Given the description of an element on the screen output the (x, y) to click on. 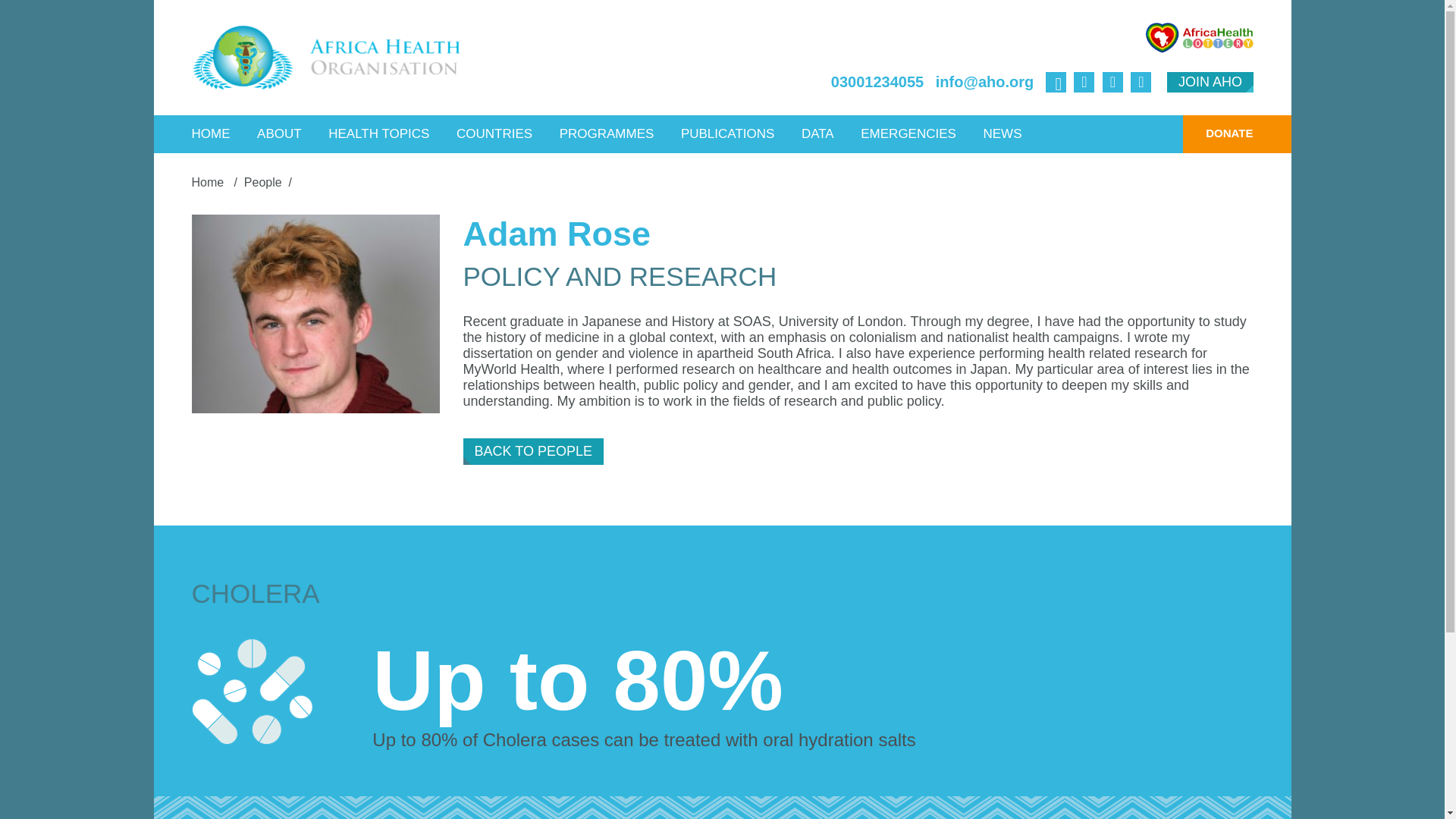
PROGRAMMES (606, 134)
People (263, 182)
Go to People. (263, 182)
BACK TO PEOPLE (533, 451)
HOME (210, 134)
JOIN AHO (1210, 82)
EMERGENCIES (908, 134)
03001234055 (877, 81)
Go to Africa Health Organisation. (208, 182)
PUBLICATIONS (727, 134)
COUNTRIES (494, 134)
Home (208, 182)
ABOUT (279, 134)
NEWS (1001, 134)
DATA (817, 134)
